Given the description of an element on the screen output the (x, y) to click on. 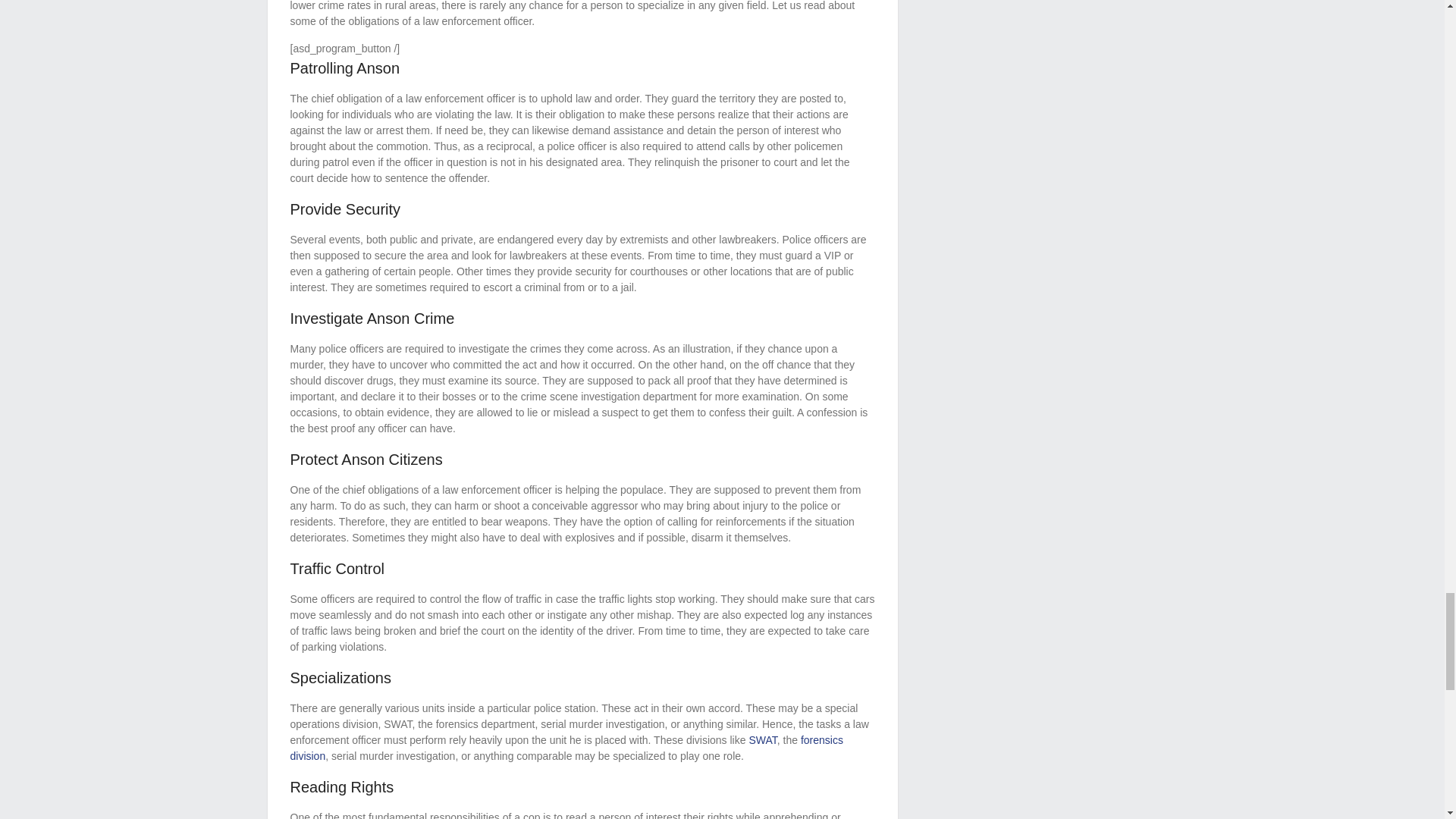
SWAT (762, 739)
